Given the description of an element on the screen output the (x, y) to click on. 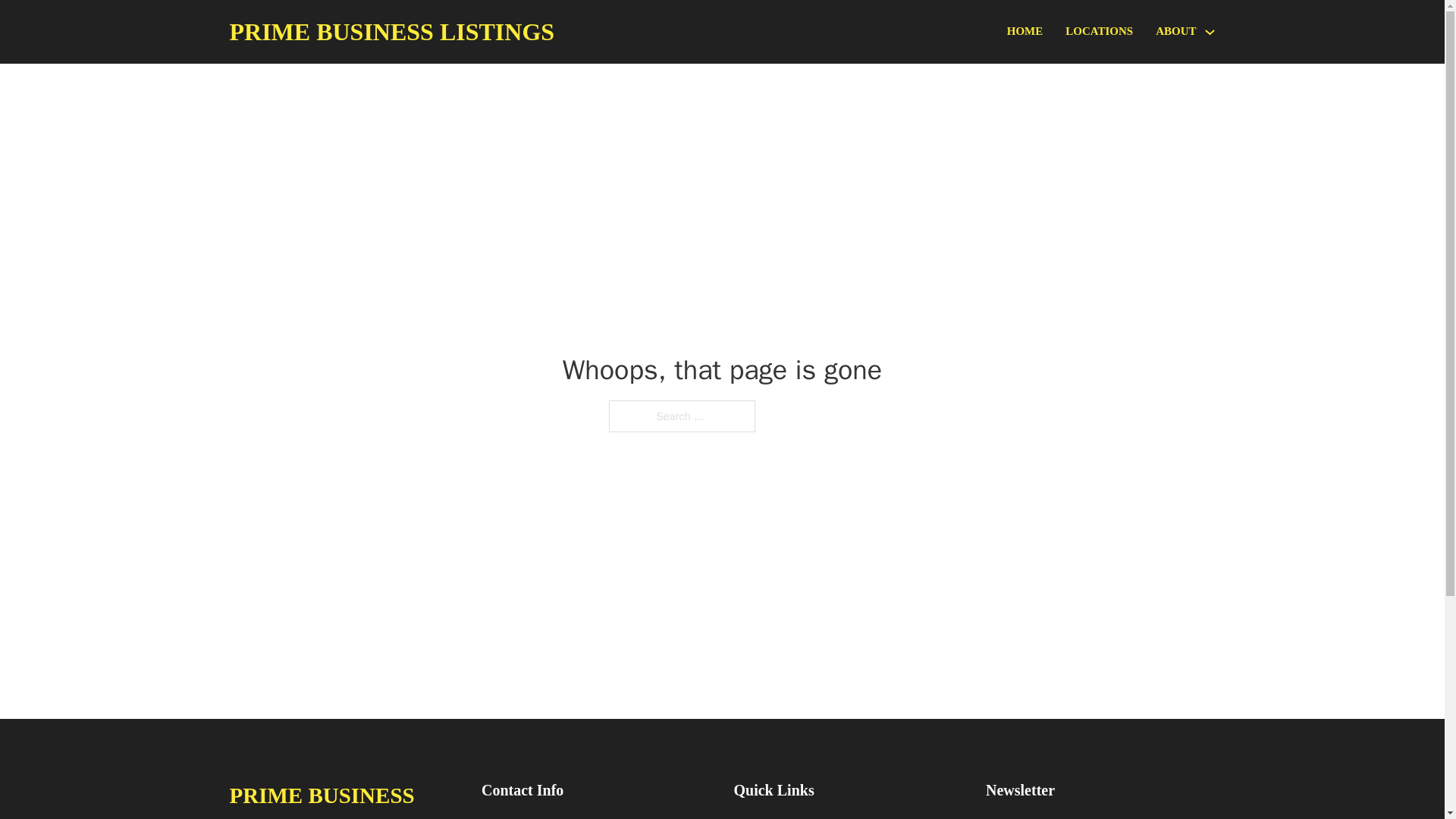
HOME (1025, 31)
PRIME BUSINESS LISTINGS (343, 798)
LOCATIONS (1098, 31)
PRIME BUSINESS LISTINGS (391, 31)
